Given the description of an element on the screen output the (x, y) to click on. 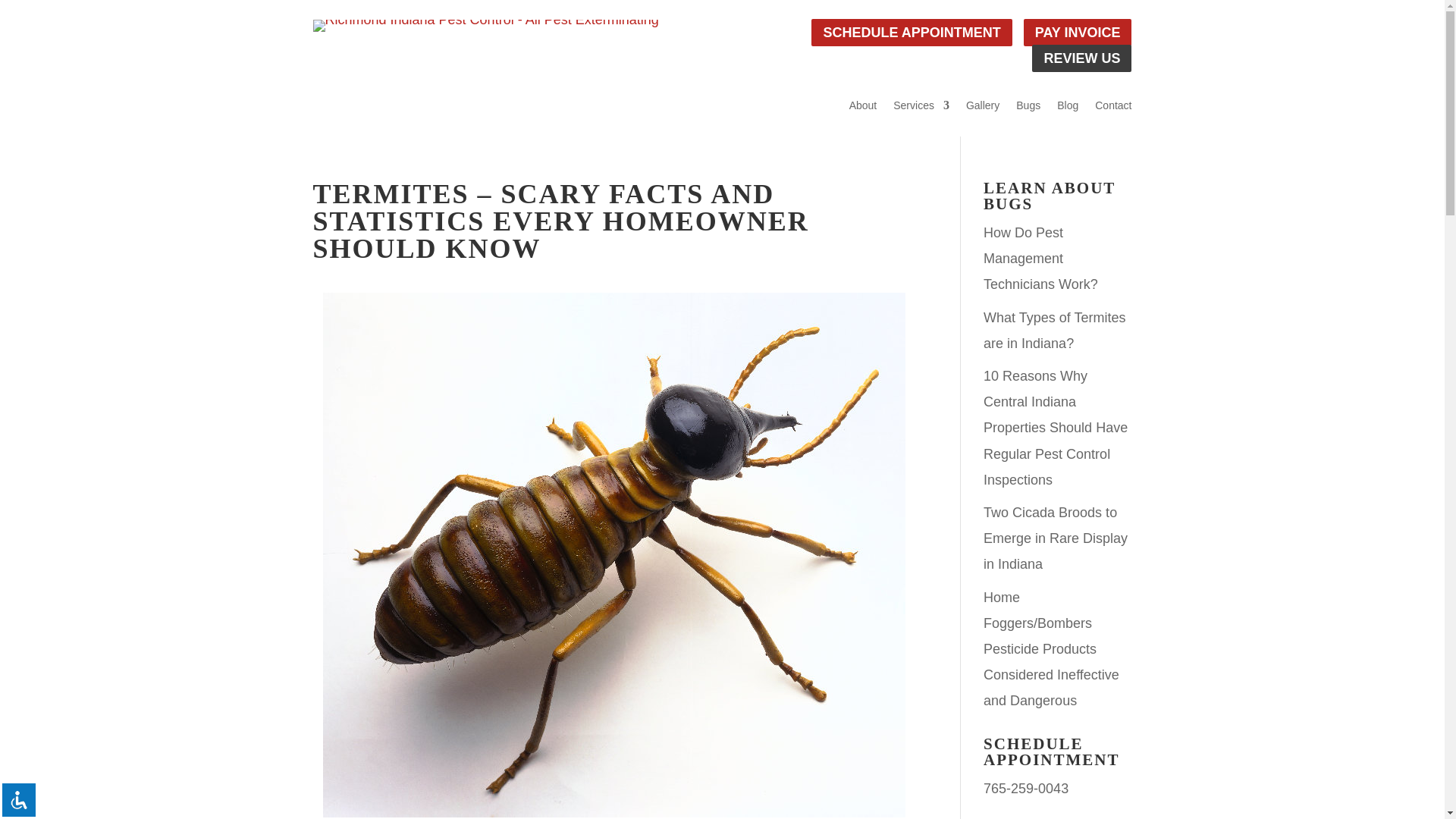
About (862, 108)
Services (921, 108)
What Types of Termites are in Indiana? (1054, 330)
Bugs (1028, 108)
765-259-0043 (1026, 788)
REVIEW US (1081, 58)
PAY INVOICE (1077, 31)
Blog (1067, 108)
How Do Pest Management Technicians Work? (1040, 258)
Contact (1112, 108)
Gallery (982, 108)
SCHEDULE APPOINTMENT (910, 31)
Two Cicada Broods to Emerge in Rare Display in Indiana (1055, 538)
